Given the description of an element on the screen output the (x, y) to click on. 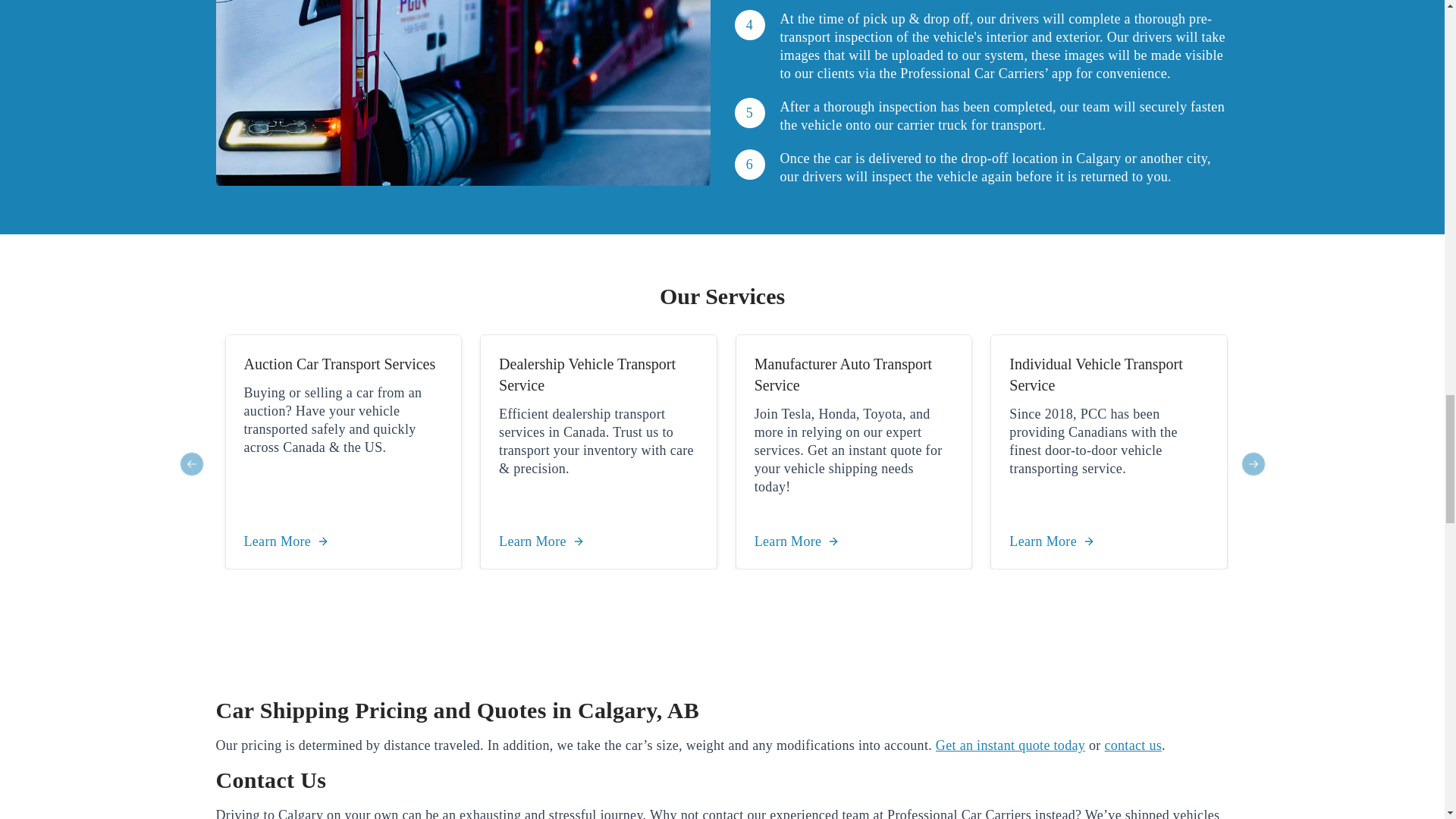
Learn More (542, 541)
Next slide (1252, 463)
Previous slide (191, 463)
contact us (1132, 744)
Learn More (797, 541)
Learn More (287, 541)
Learn More (1051, 541)
Get an instant quote today (1010, 744)
